Given the description of an element on the screen output the (x, y) to click on. 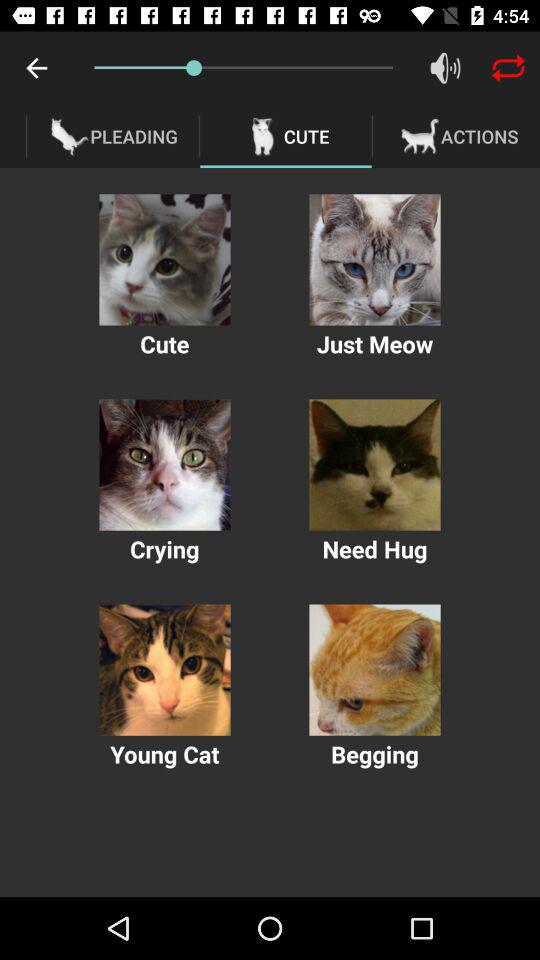
refresh (508, 67)
